Given the description of an element on the screen output the (x, y) to click on. 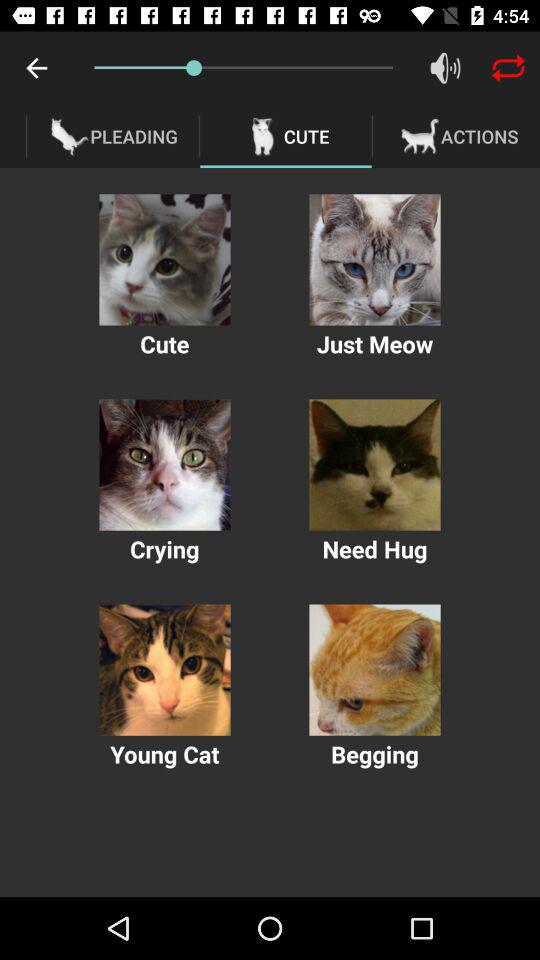
refresh (508, 67)
